Given the description of an element on the screen output the (x, y) to click on. 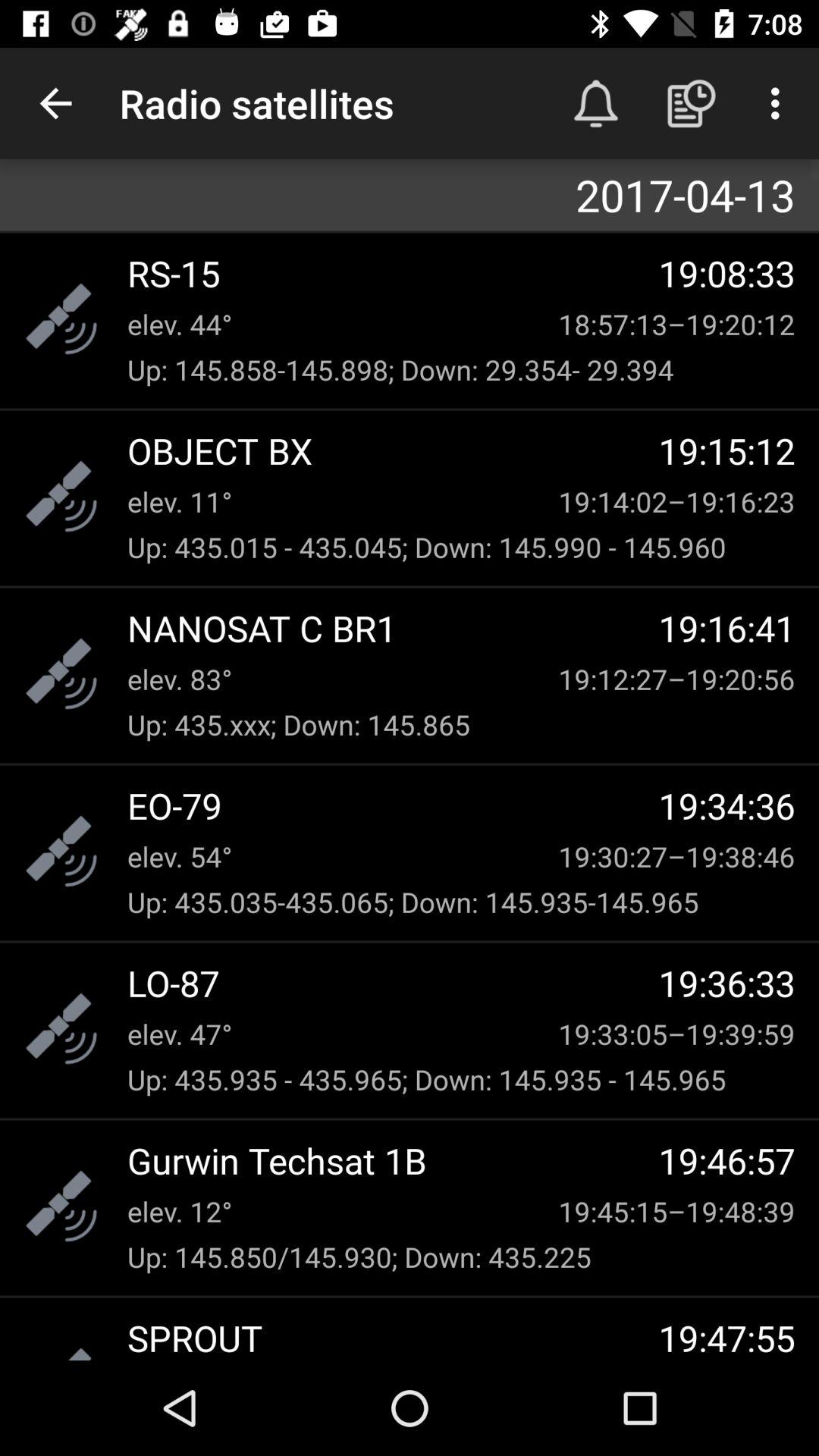
select the app next to the radio satellites (55, 103)
